Given the description of an element on the screen output the (x, y) to click on. 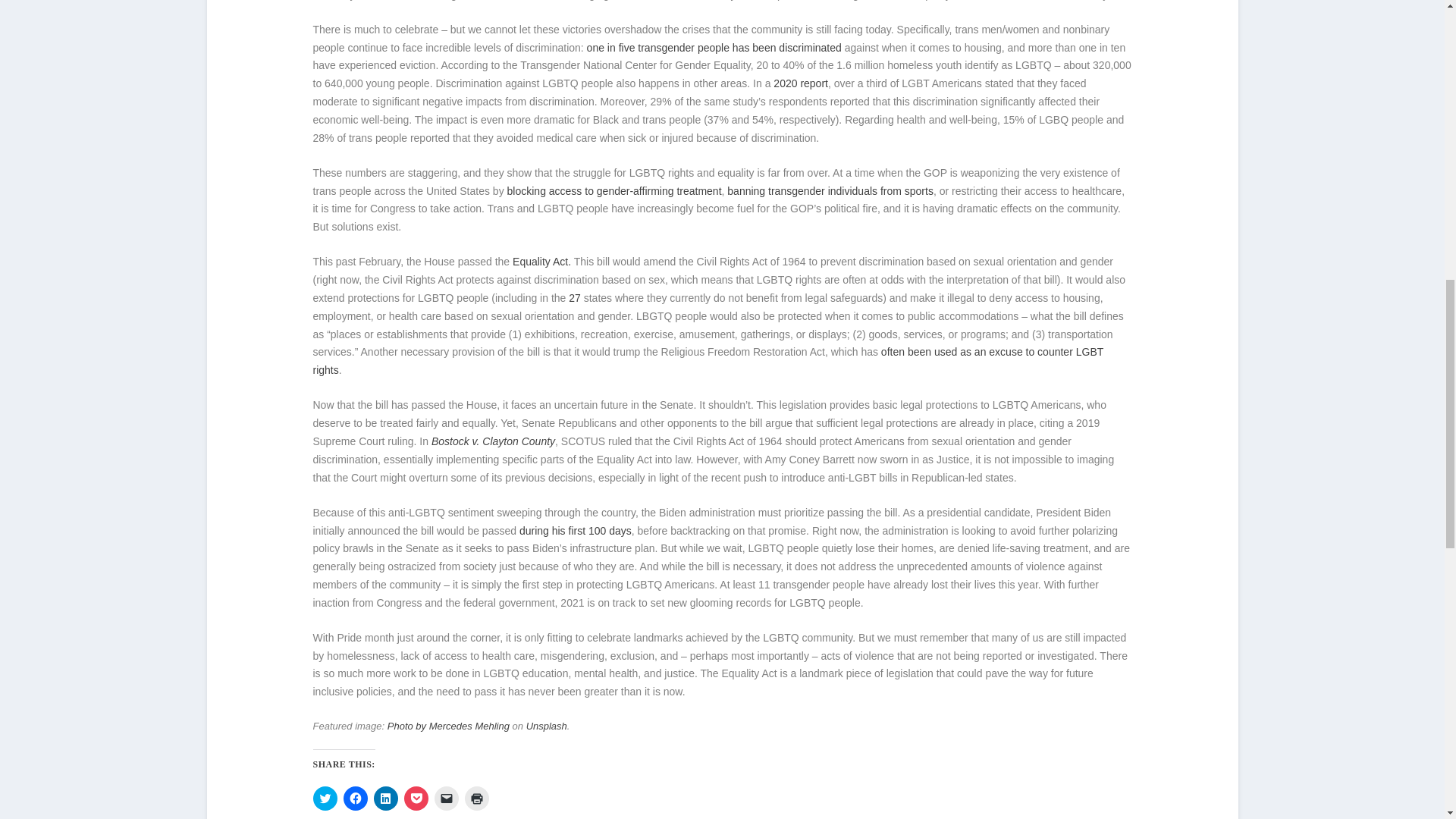
Click to email a link to a friend (445, 798)
Click to share on Facebook (354, 798)
2020 report (799, 82)
Click to share on Twitter (324, 798)
Click to share on LinkedIn (384, 798)
one in five transgender people has been discriminated (712, 47)
Equality Act. (539, 261)
Click to print (475, 798)
banning transgender individuals from sports (828, 191)
blocking access to gender-affirming treatment (612, 191)
Click to share on Pocket (415, 798)
